Given the description of an element on the screen output the (x, y) to click on. 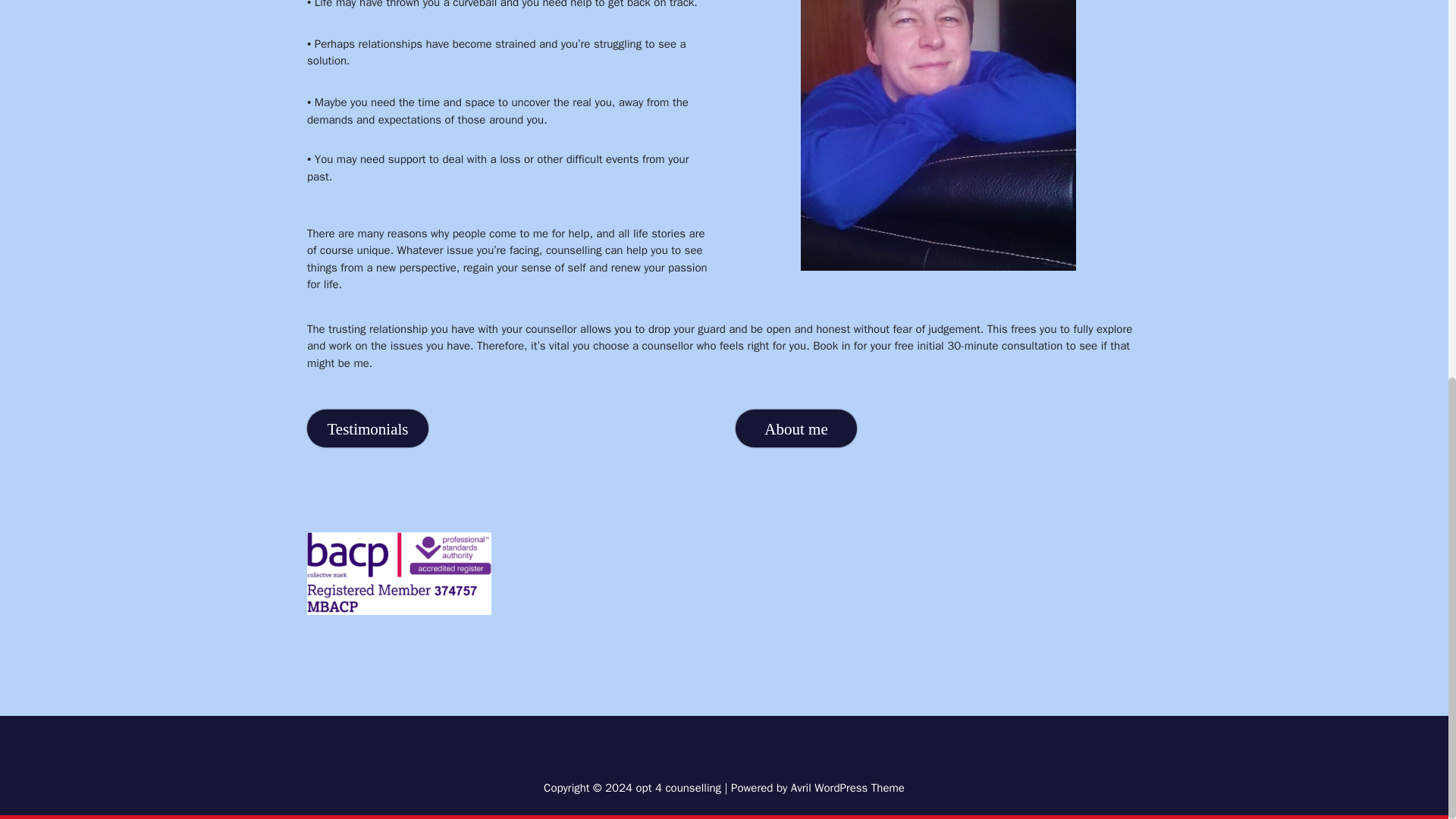
Avril WordPress Theme (847, 787)
Testimonials (367, 435)
About me (796, 433)
